Given the description of an element on the screen output the (x, y) to click on. 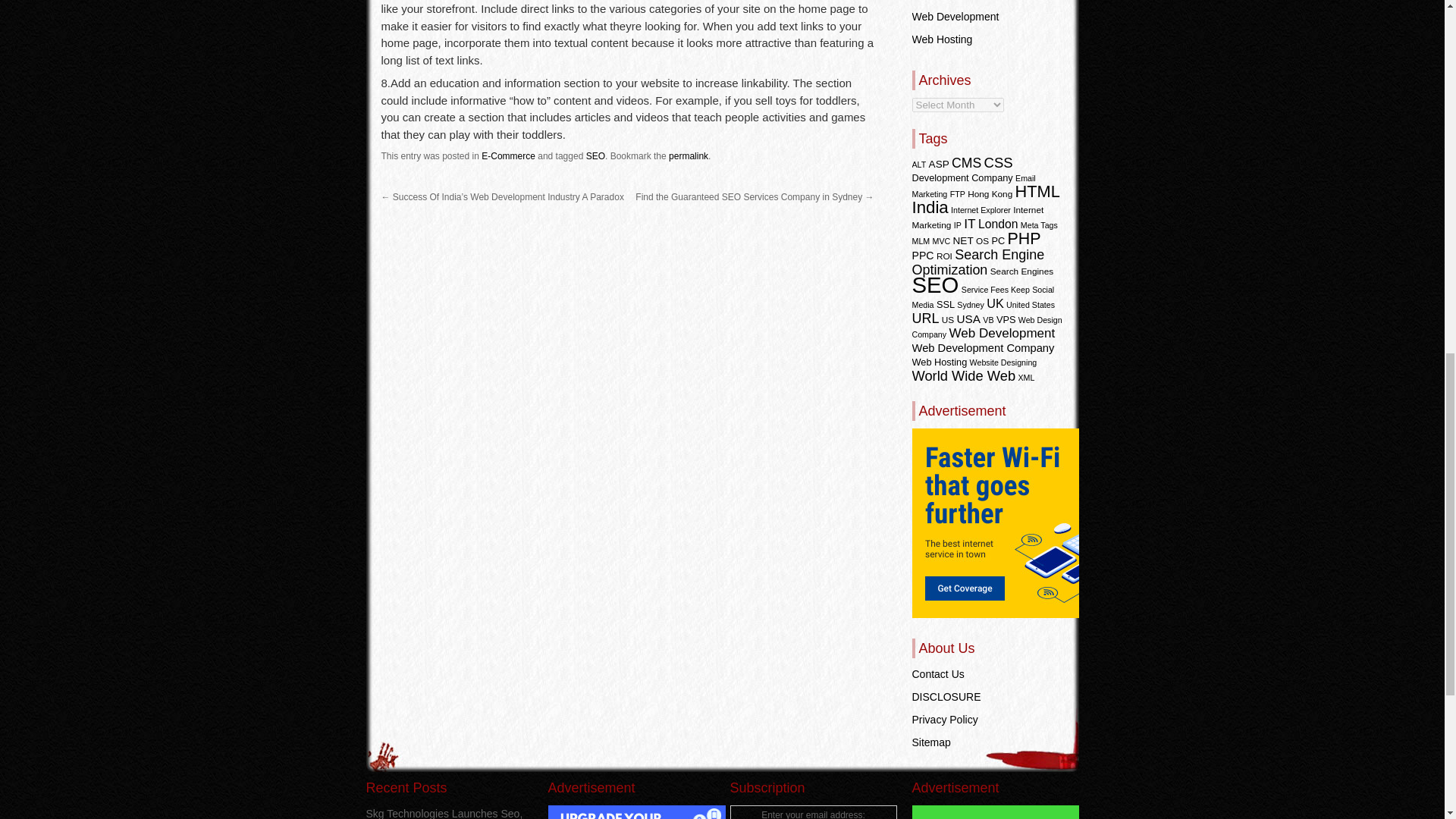
Development Company (961, 177)
CMS (966, 162)
E-Commerce (508, 155)
SEO (595, 155)
permalink (687, 155)
Email Marketing (973, 186)
Web Development (954, 16)
Hong Kong (989, 194)
ALT (918, 163)
Permalink to Easy Tips for Ecommerce SEO (687, 155)
